Given the description of an element on the screen output the (x, y) to click on. 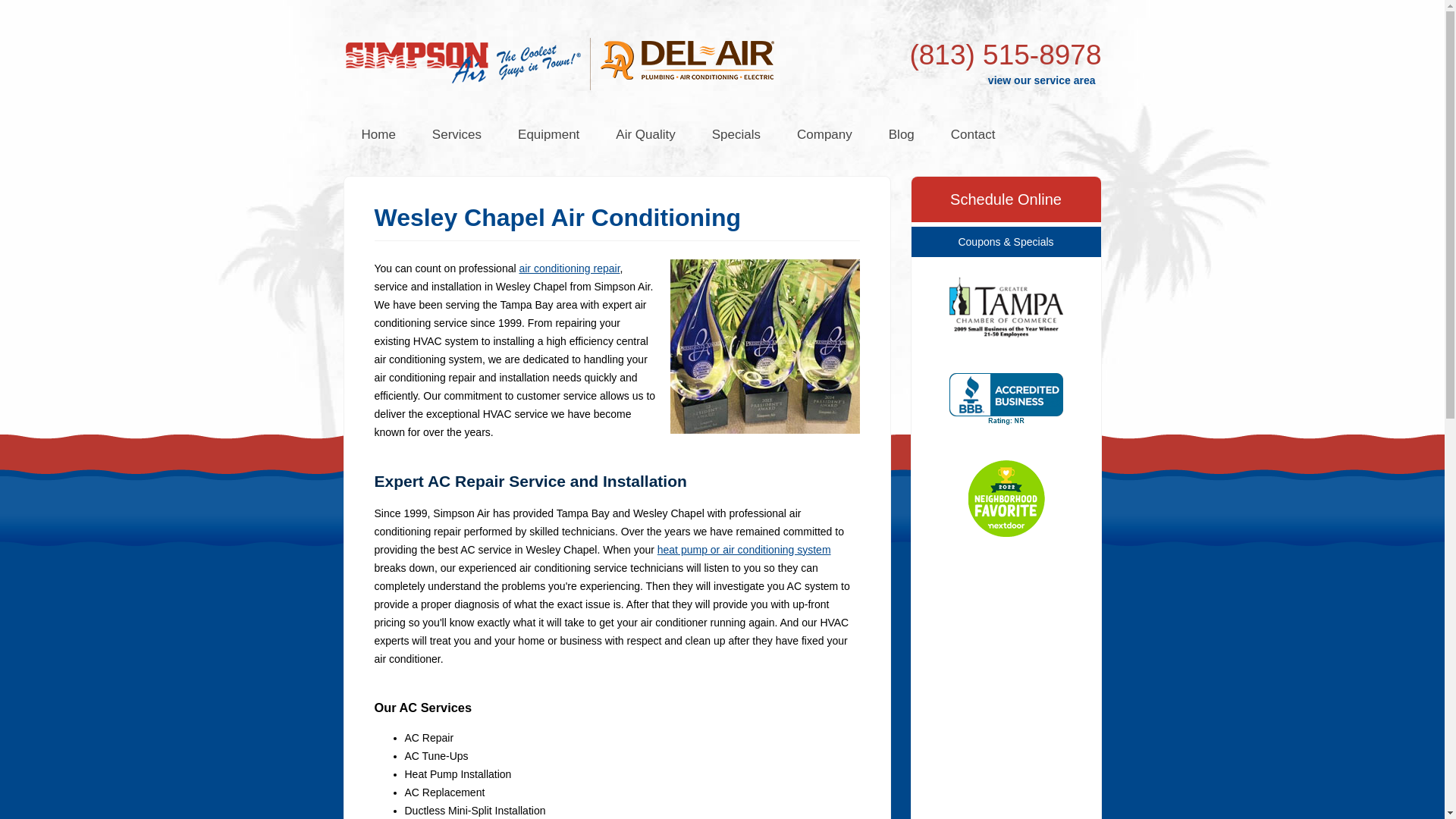
Equipment (547, 135)
heat pump or air conditioning system (744, 549)
Air Quality (644, 135)
Schedule Online (1005, 198)
Services (456, 135)
Company (824, 135)
view our service area (1042, 80)
air conditioning repair (569, 268)
Contact (973, 135)
Home (377, 135)
Blog (901, 135)
Specials (736, 135)
